Given the description of an element on the screen output the (x, y) to click on. 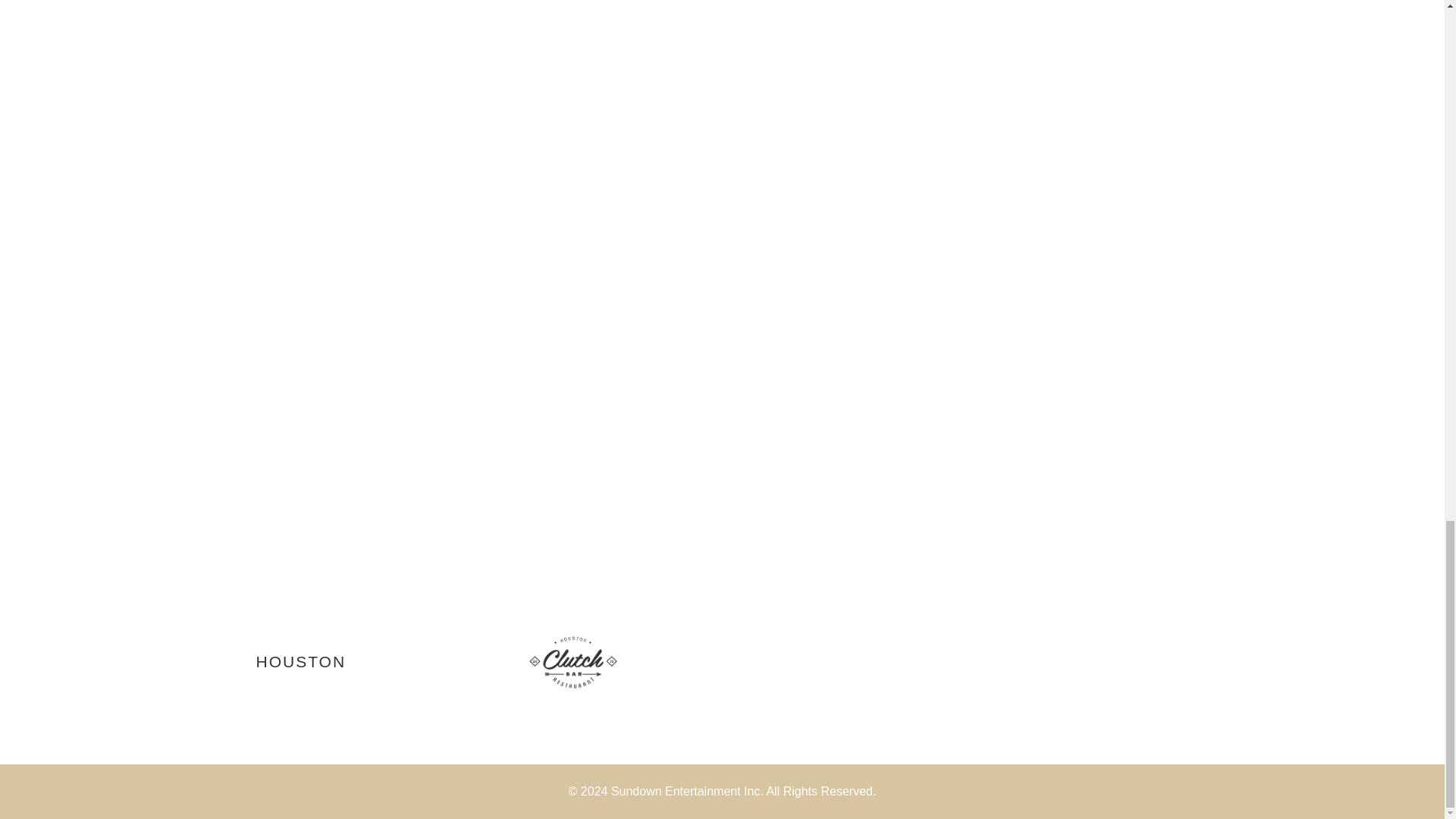
HOUSTON (301, 661)
